Given the description of an element on the screen output the (x, y) to click on. 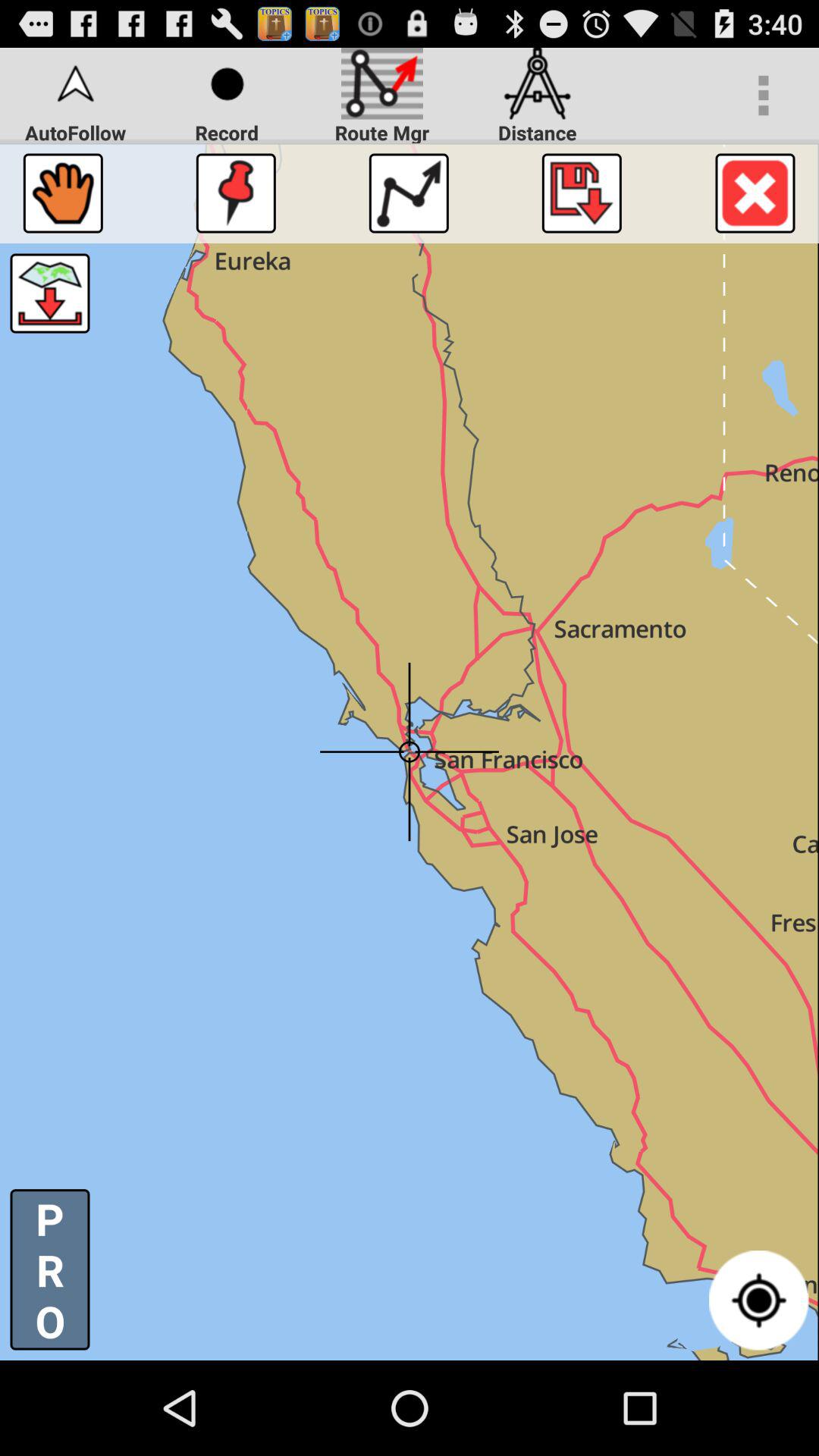
open the item below distance (581, 193)
